Given the description of an element on the screen output the (x, y) to click on. 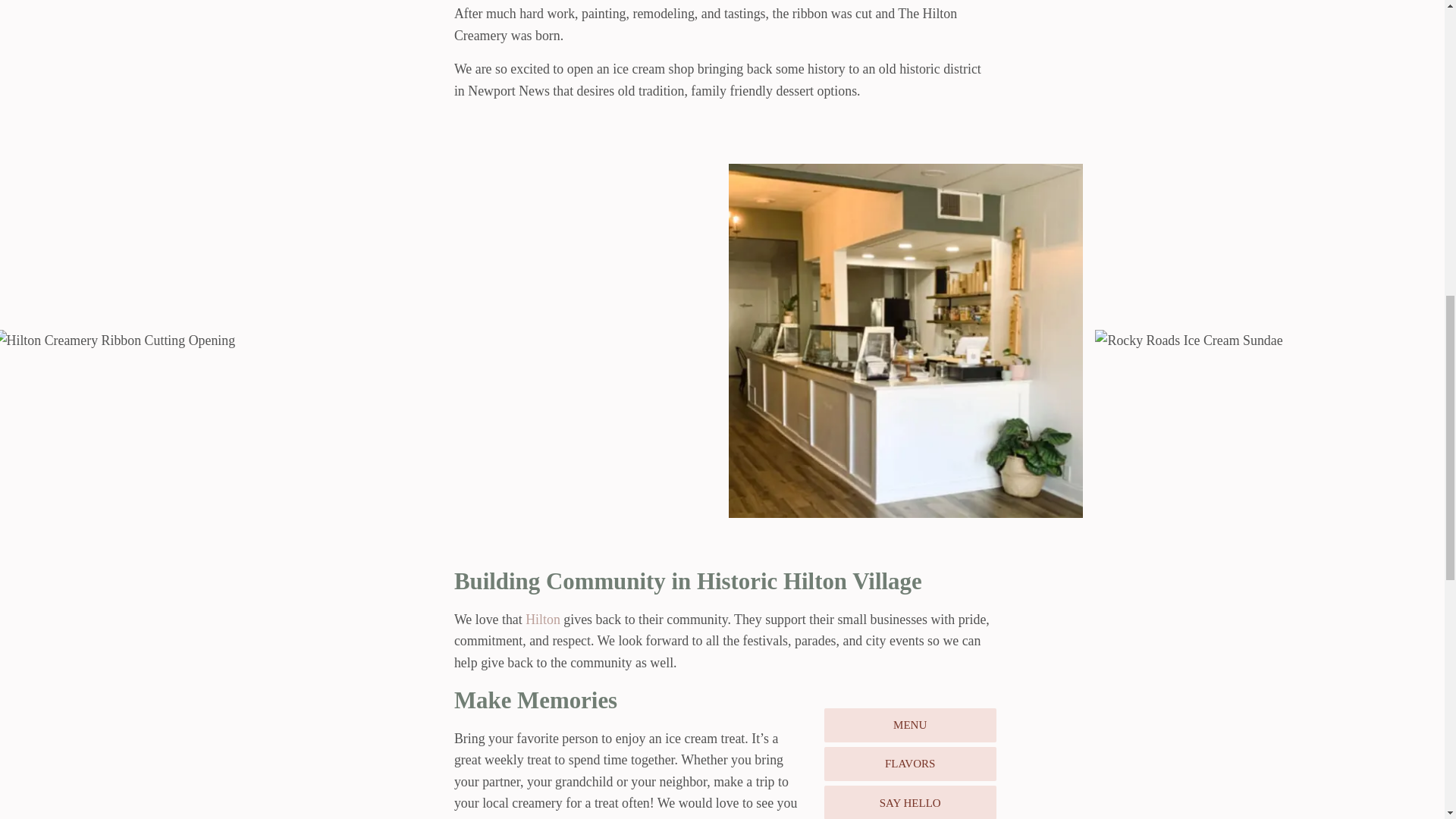
SAY HELLO (909, 802)
Hilton (542, 619)
FLAVORS (909, 763)
MENU (909, 725)
